Given the description of an element on the screen output the (x, y) to click on. 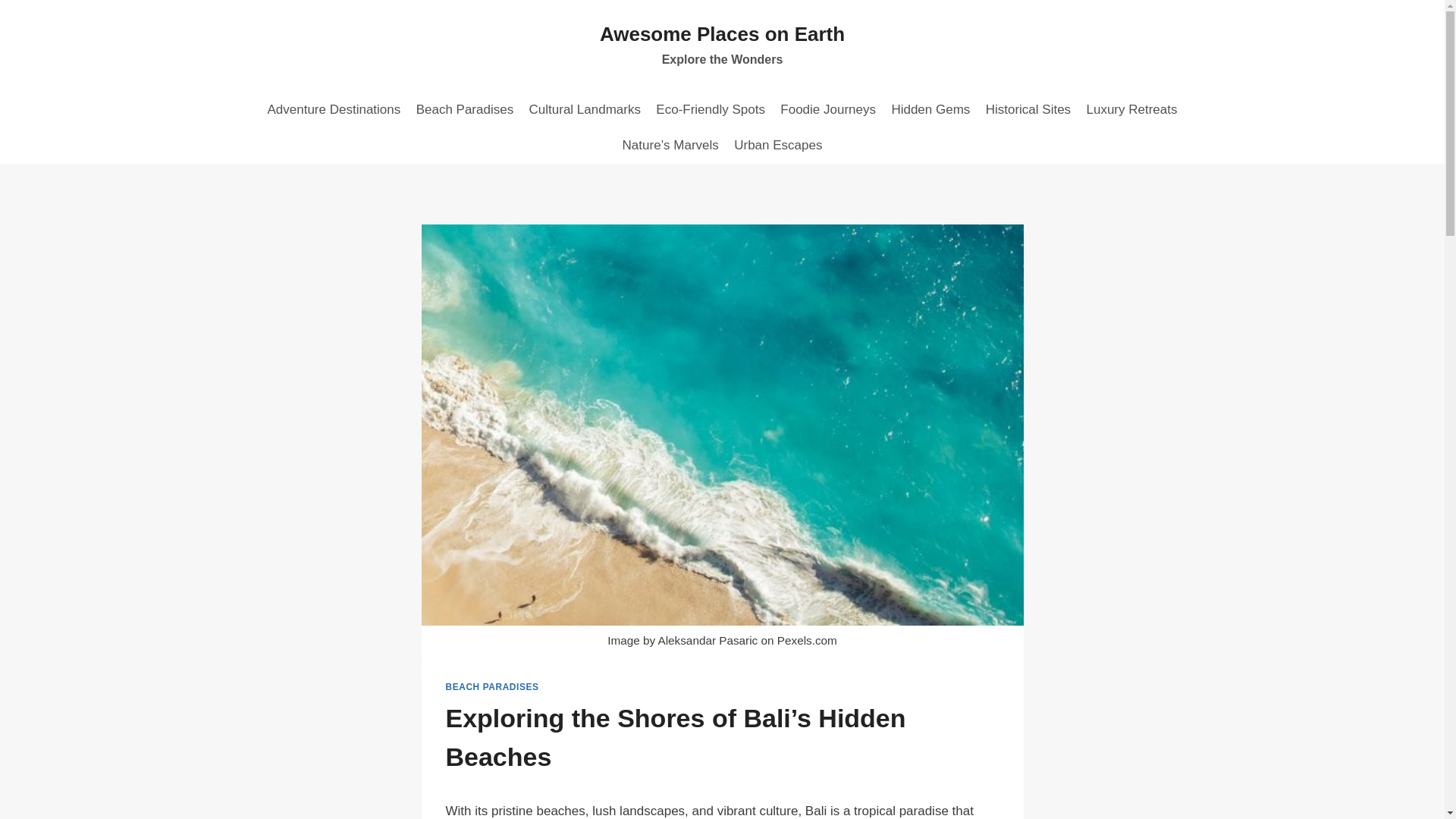
Cultural Landmarks (584, 109)
Adventure Destinations (333, 109)
Hidden Gems (721, 45)
Historical Sites (929, 109)
Urban Escapes (1028, 109)
Eco-Friendly Spots (777, 145)
Luxury Retreats (710, 109)
Beach Paradises (1131, 109)
BEACH PARADISES (464, 109)
